Given the description of an element on the screen output the (x, y) to click on. 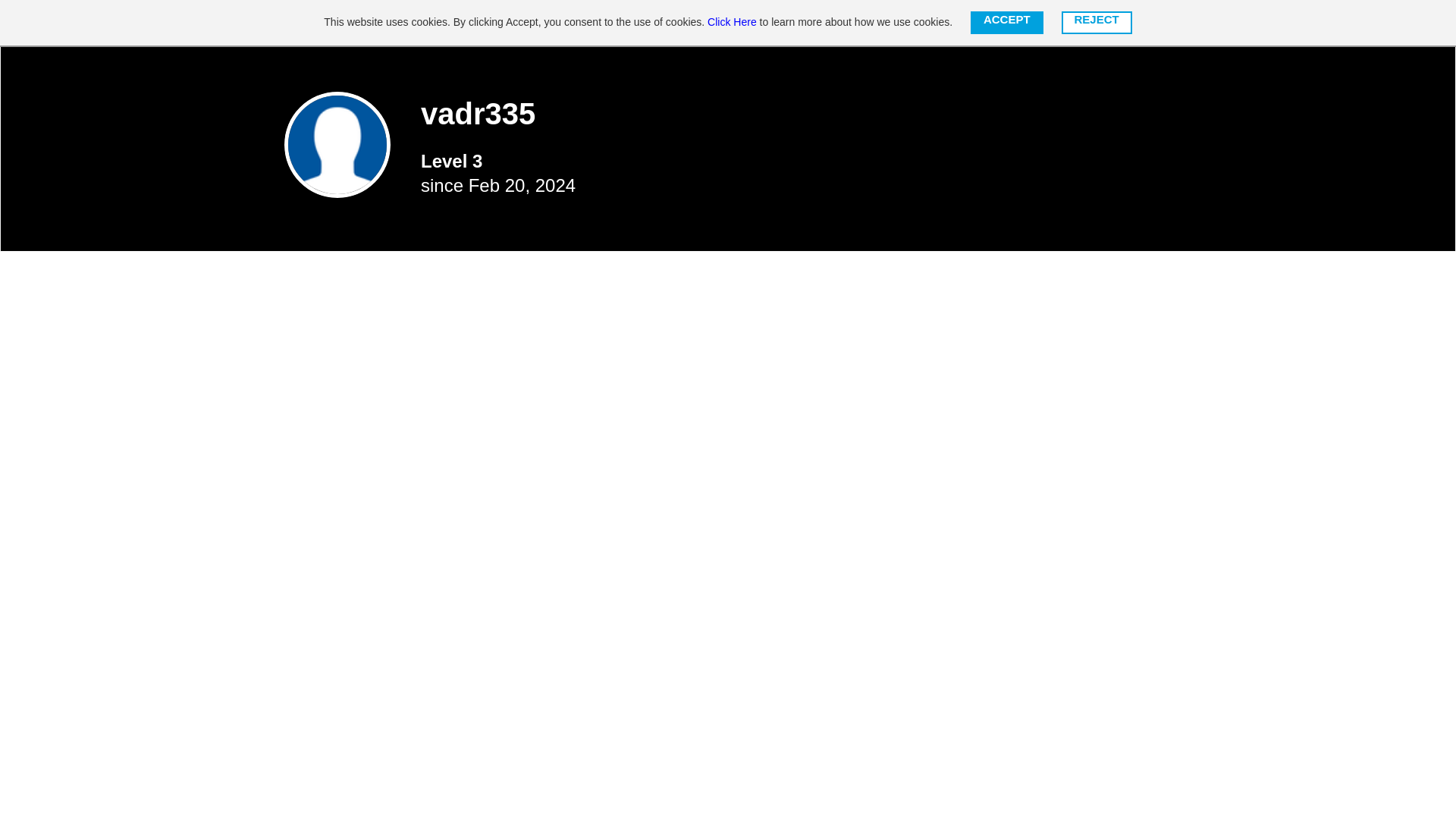
Learn (608, 22)
vadr335 (336, 144)
Product Access (1023, 22)
More (947, 22)
Support (724, 22)
Flexera Community (373, 22)
Ideas (663, 22)
I'm New! (886, 22)
REJECT (1096, 22)
ACCEPT (1007, 22)
